Given the description of an element on the screen output the (x, y) to click on. 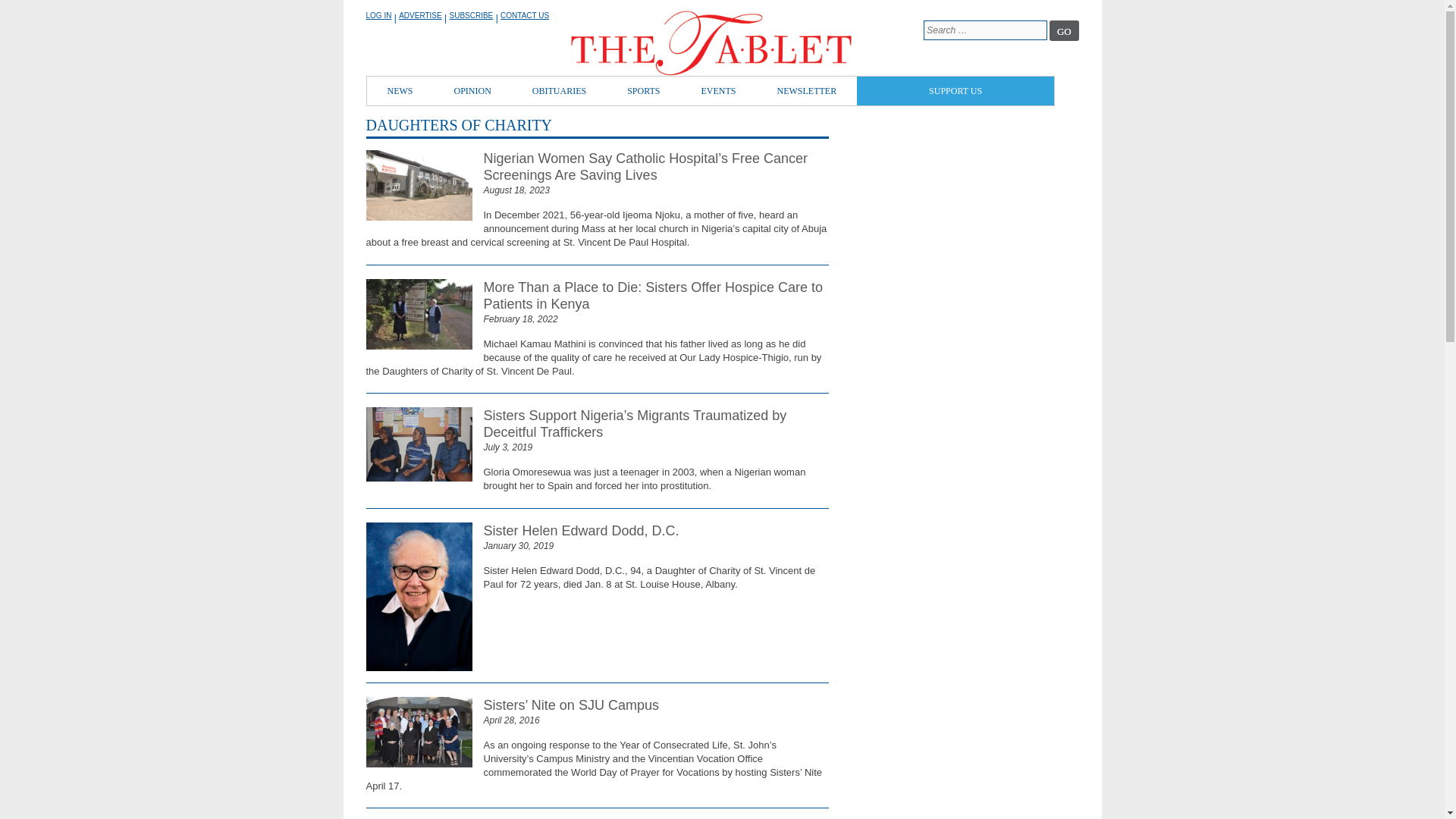
SUBSCRIBE (470, 15)
NEWS (399, 90)
ADVERTISE (420, 15)
GO (1063, 30)
Search for: (984, 30)
GO (1063, 30)
EVENTS (719, 90)
CONTACT US (524, 15)
OPINION (472, 90)
NEWSLETTER (807, 90)
LOG IN (378, 15)
SPORTS (643, 90)
GO (1063, 30)
SUPPORT US (955, 90)
OBITUARIES (559, 90)
